Given the description of an element on the screen output the (x, y) to click on. 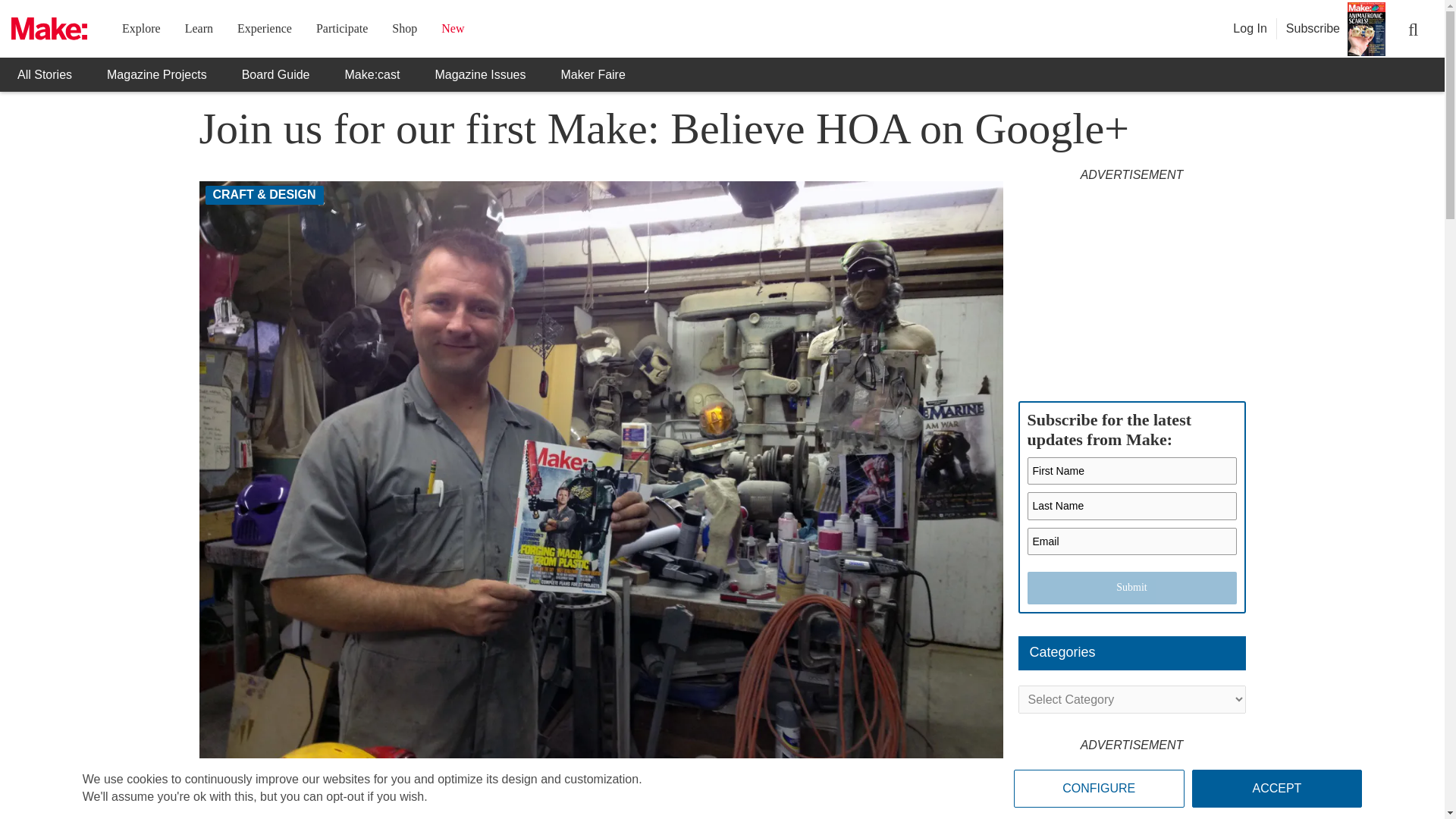
Log In (1249, 28)
Board Guide (275, 74)
Make:cast (372, 74)
Experience (264, 28)
Maker Faire (592, 74)
Magazine Issues (479, 74)
Explore (141, 28)
All Stories (44, 74)
Participate (341, 28)
Learn (198, 28)
Magazine Projects (156, 74)
